Given the description of an element on the screen output the (x, y) to click on. 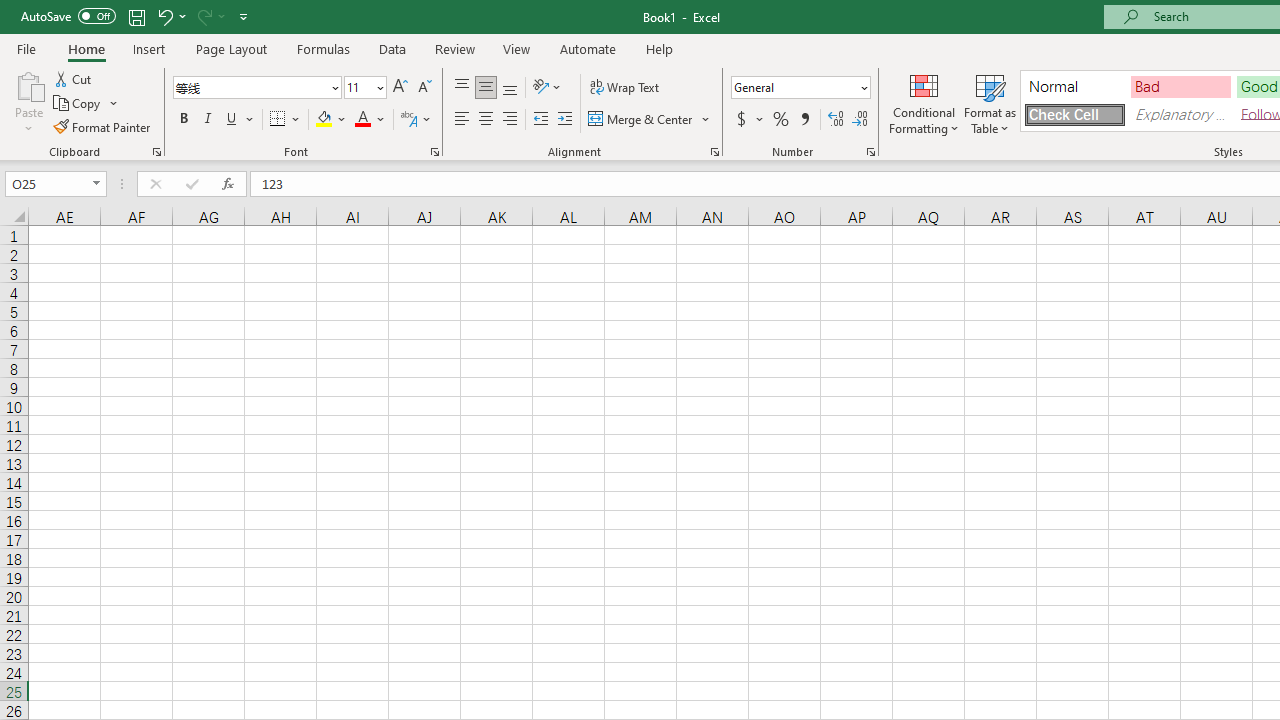
Percent Style (781, 119)
Decrease Font Size (424, 87)
Bold (183, 119)
Orientation (547, 87)
Bottom Border (278, 119)
Font (250, 87)
Font Size (365, 87)
Font (256, 87)
Paste (28, 102)
Check Cell (1074, 114)
Explanatory Text (1180, 114)
